Given the description of an element on the screen output the (x, y) to click on. 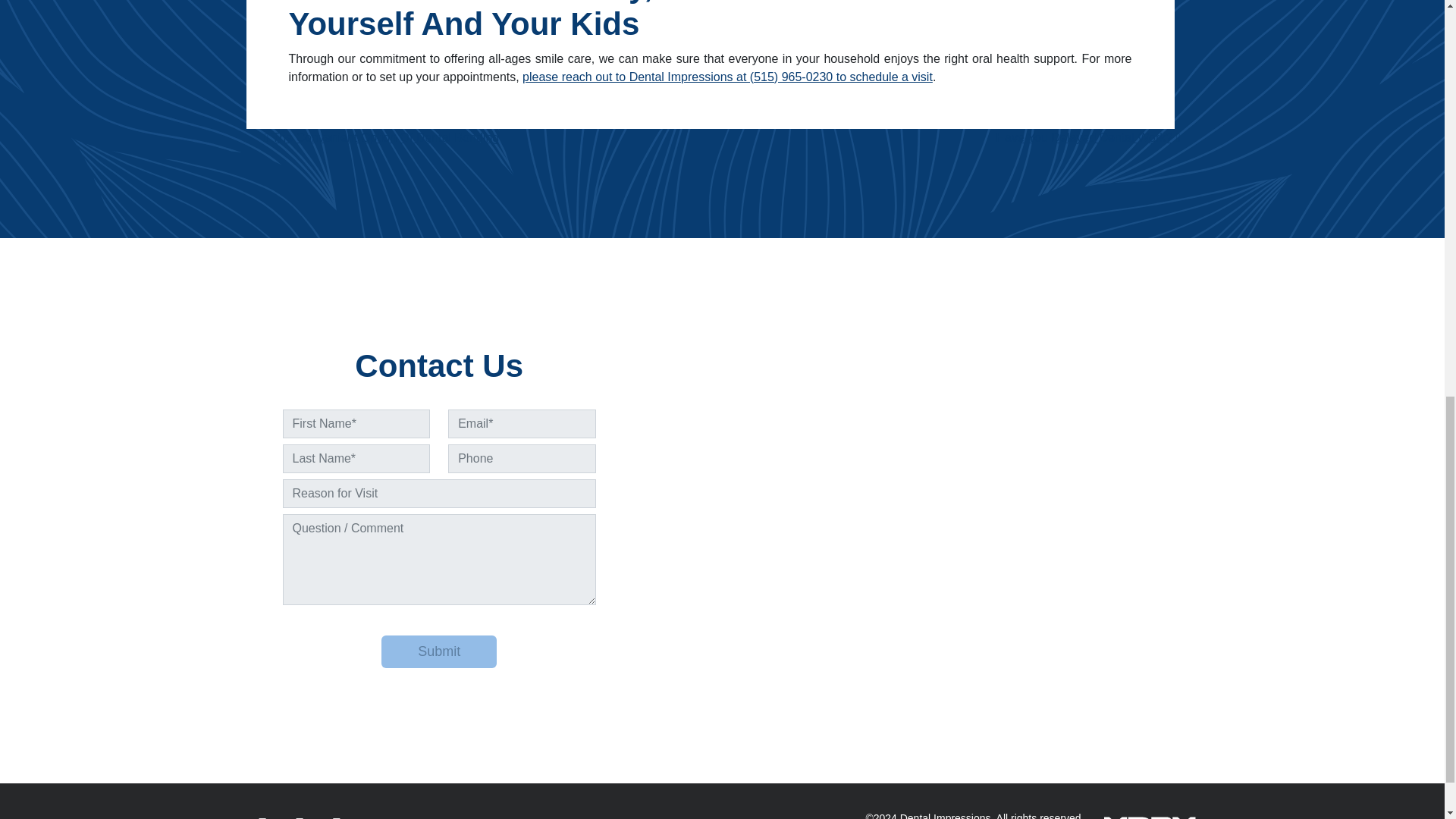
Have You Delayed Dental Work?  (1087, 137)
Submit (438, 651)
Submit (438, 651)
 The Convenient Option Of Dental Bonding (381, 137)
